Given the description of an element on the screen output the (x, y) to click on. 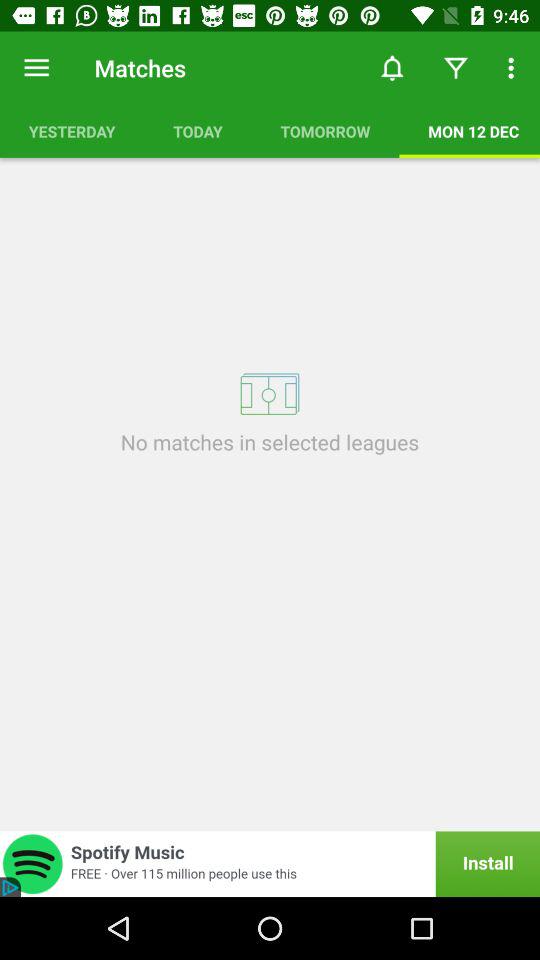
press icon next to mon 12 dec icon (325, 131)
